Given the description of an element on the screen output the (x, y) to click on. 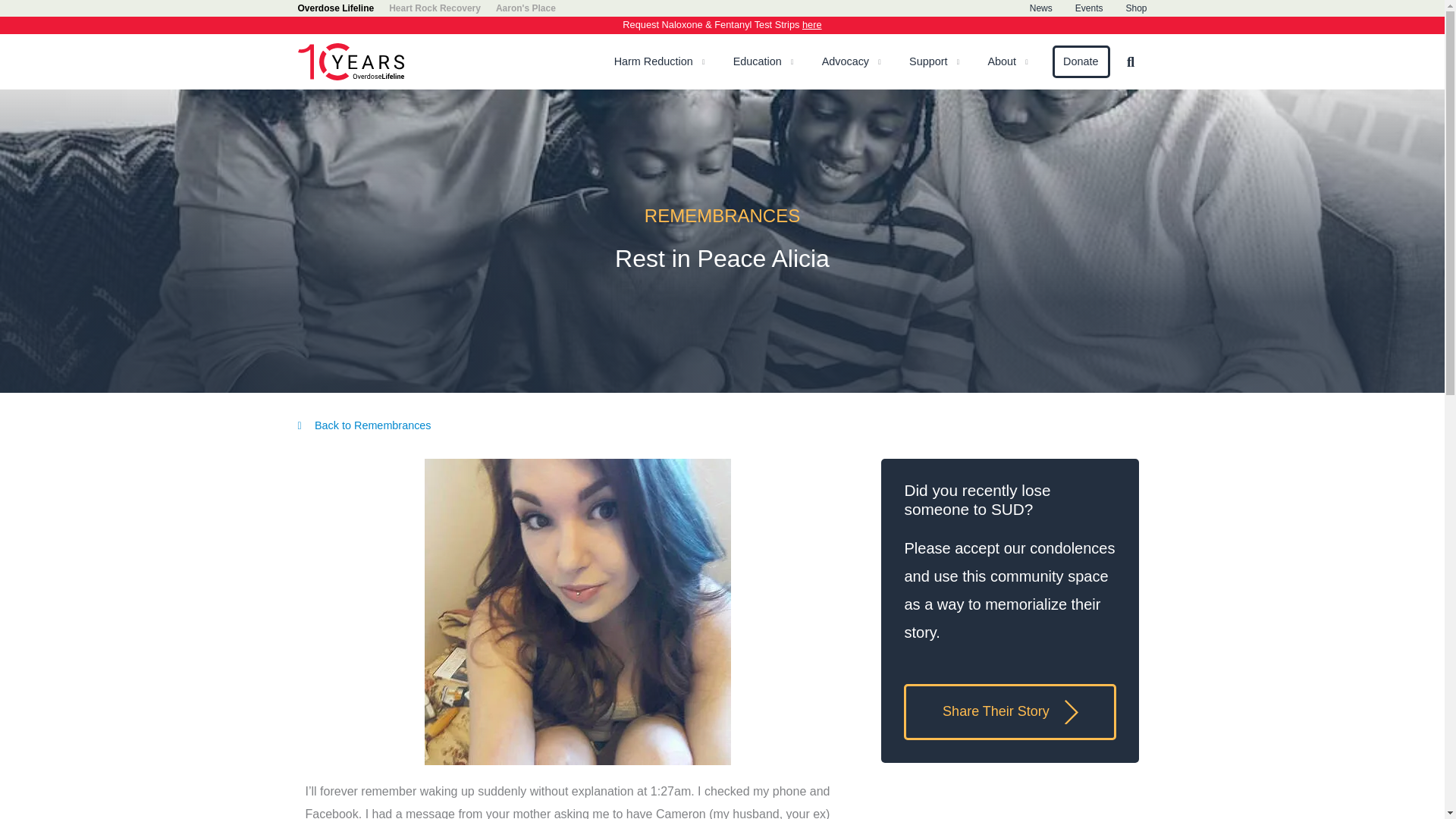
Overdose Lifeline (335, 8)
Aaron's Place (526, 8)
News (1040, 8)
Shop (1136, 8)
Heart Rock Recovery (434, 8)
Education (757, 61)
Events (1089, 8)
Harm Reduction (653, 61)
